Given the description of an element on the screen output the (x, y) to click on. 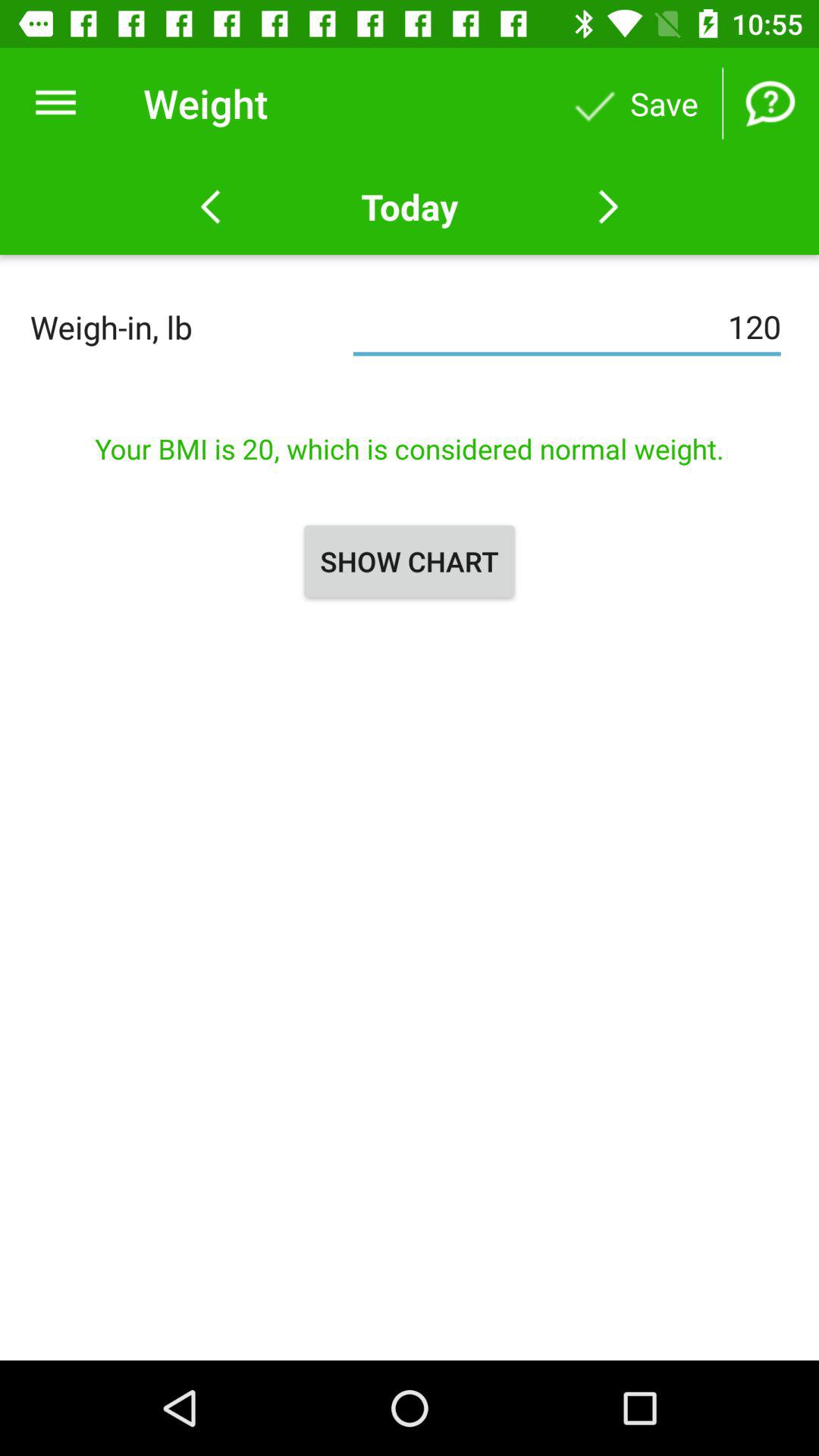
click the item above the weigh-in, lb (55, 103)
